Given the description of an element on the screen output the (x, y) to click on. 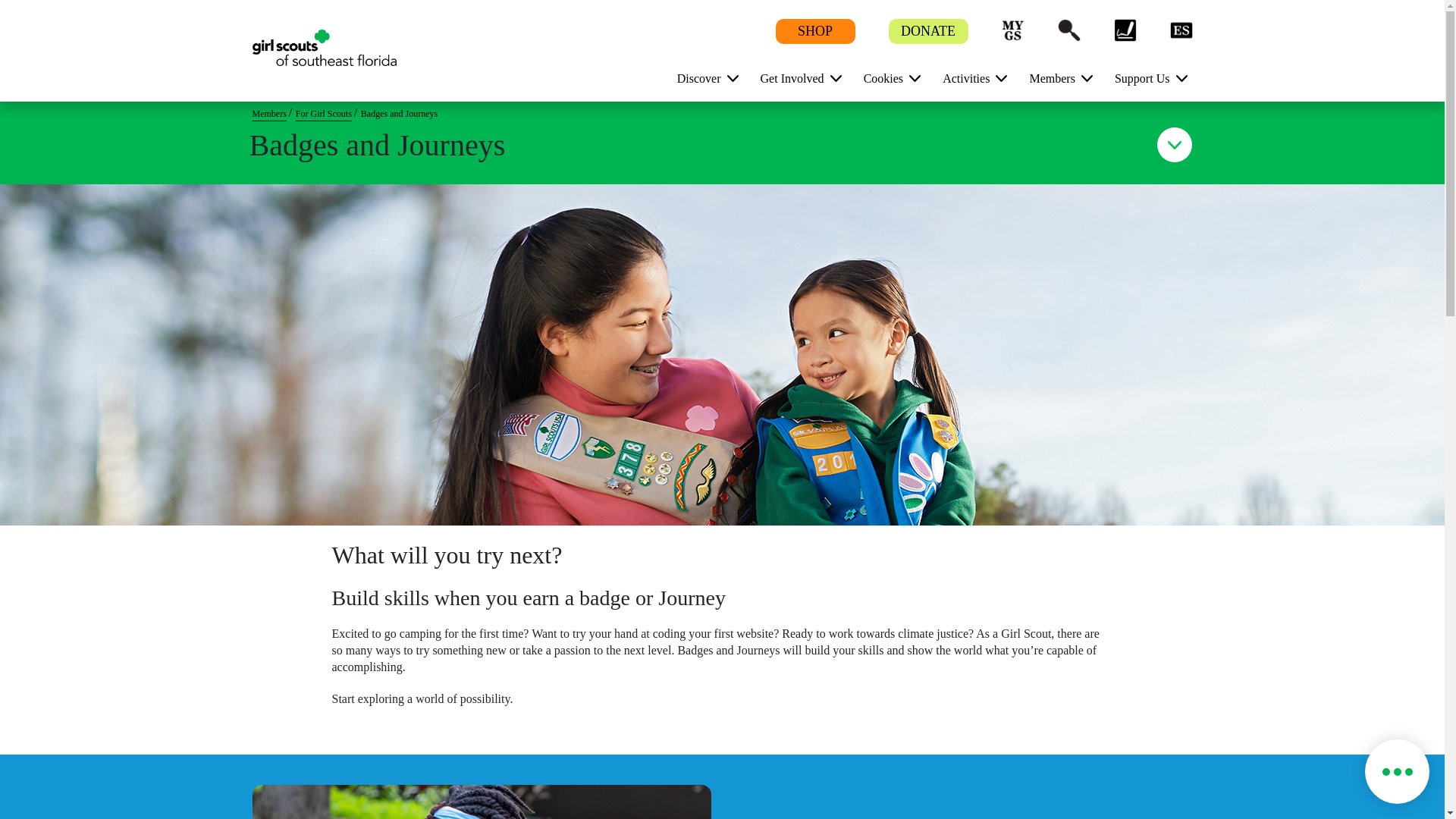
DONATE (928, 31)
MyGS (1012, 29)
Discover (702, 77)
Search (1068, 29)
Forms (1124, 29)
SHOP (814, 31)
Get Involved (794, 77)
Espanol (1180, 29)
